Given the description of an element on the screen output the (x, y) to click on. 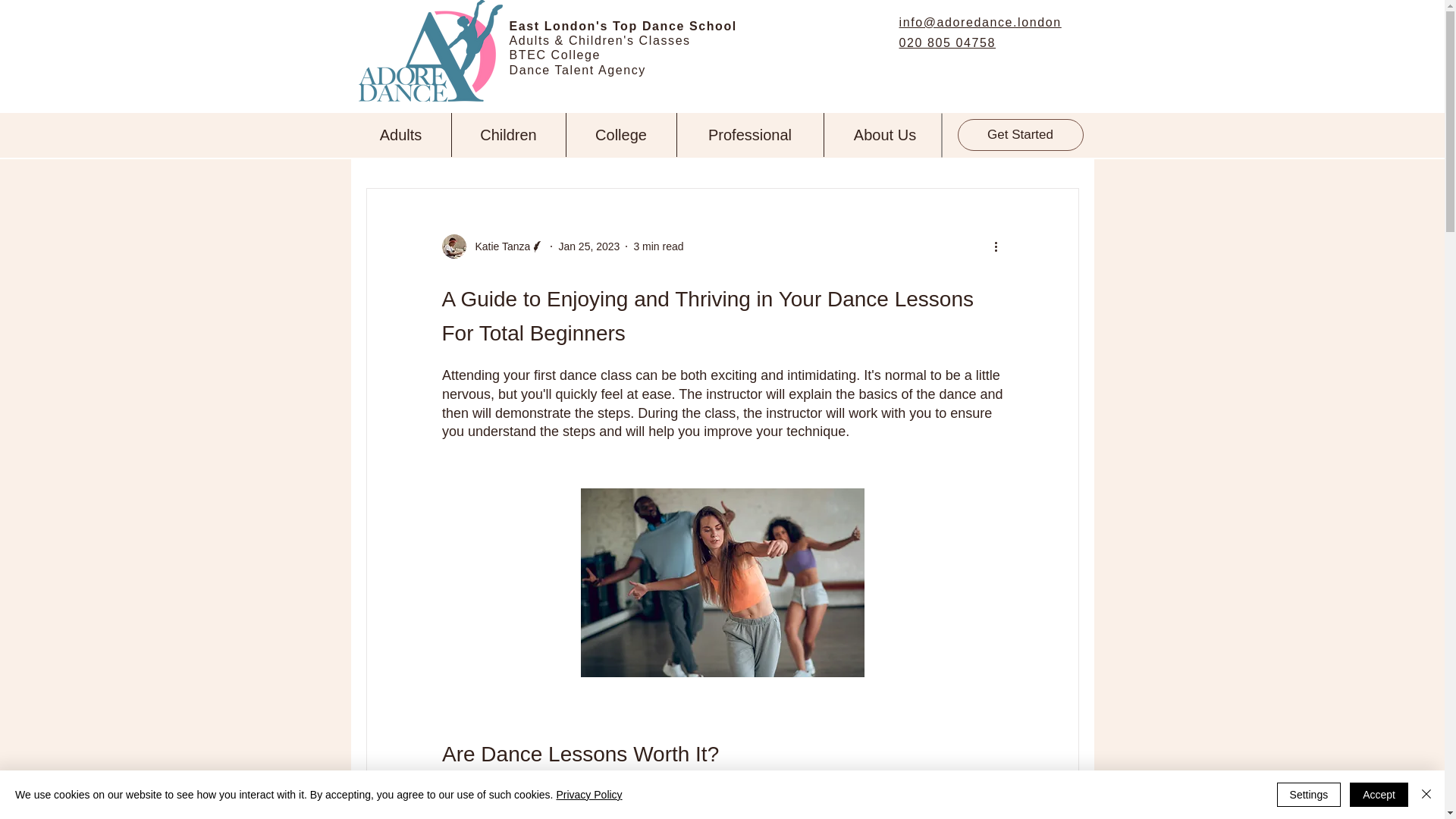
020 805 04758 (947, 42)
Get Started (1019, 134)
Katie Tanza (497, 245)
Dance History (831, 142)
East London's Top Dance School (622, 25)
Jan 25, 2023 (588, 245)
Dance Industry East London (703, 142)
Katie Tanza (492, 246)
All Posts (385, 142)
3 min read (657, 245)
Dance Classes Lessons East London (523, 142)
